Given the description of an element on the screen output the (x, y) to click on. 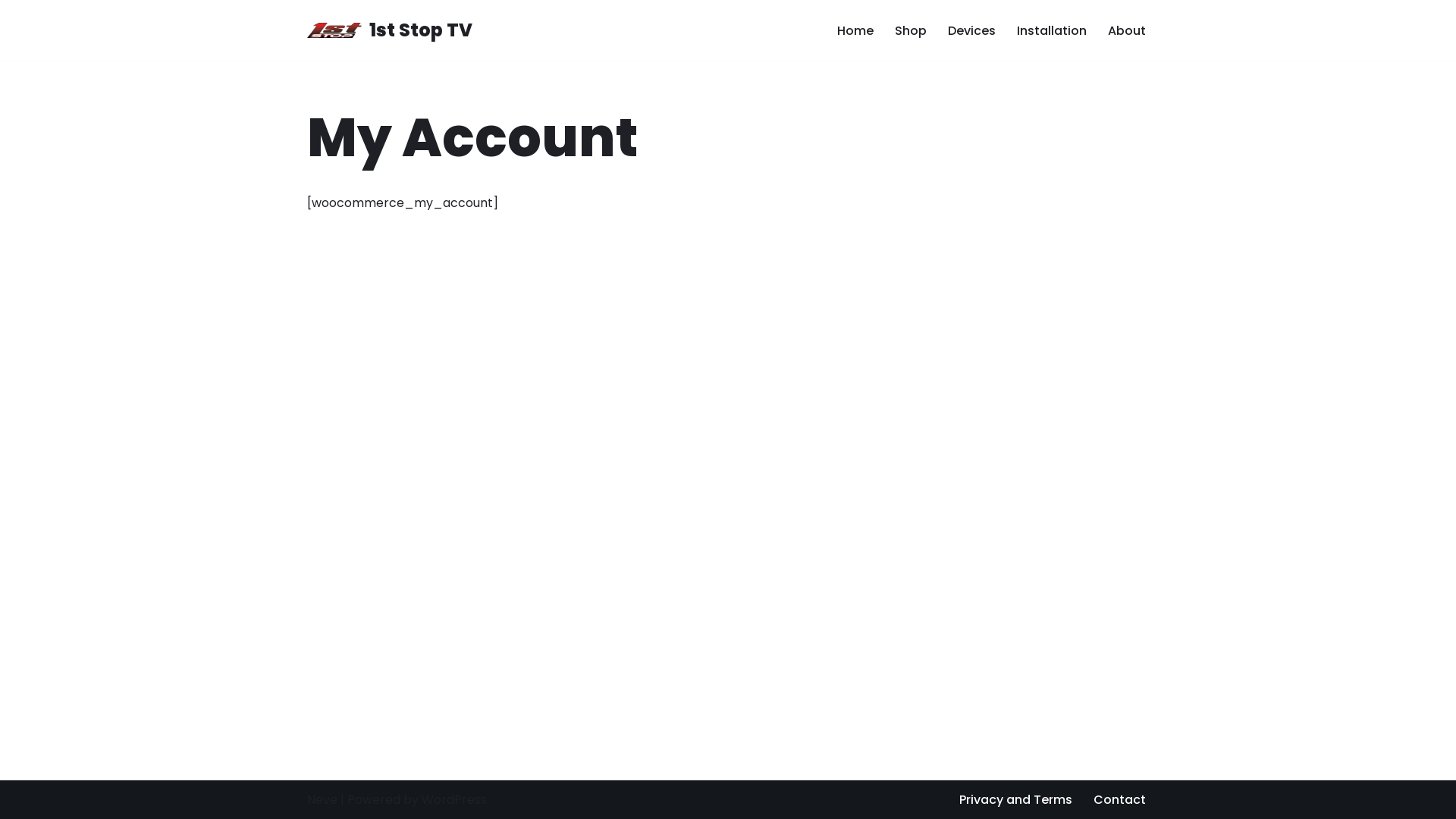
Contact Element type: text (1119, 799)
Installation Element type: text (1051, 30)
WordPress Element type: text (453, 799)
Skip to content Element type: text (11, 31)
About Element type: text (1126, 30)
Home Element type: text (855, 30)
Shop Element type: text (910, 30)
Neve Element type: text (322, 799)
Privacy and Terms Element type: text (1015, 799)
1st Stop TV Element type: text (389, 30)
Devices Element type: text (971, 30)
